Given the description of an element on the screen output the (x, y) to click on. 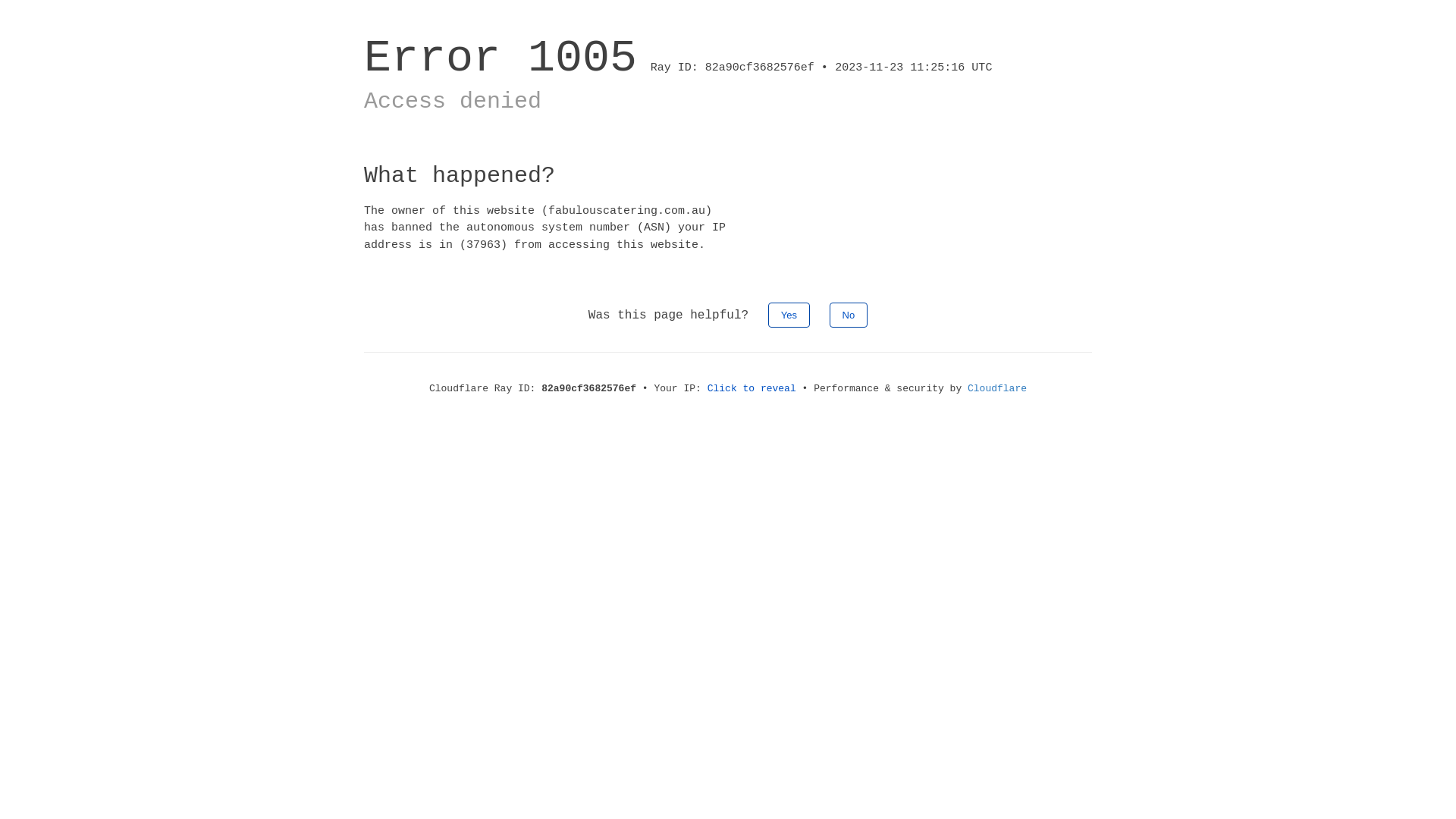
Cloudflare Element type: text (996, 388)
No Element type: text (848, 314)
Yes Element type: text (788, 314)
Click to reveal Element type: text (751, 388)
